Given the description of an element on the screen output the (x, y) to click on. 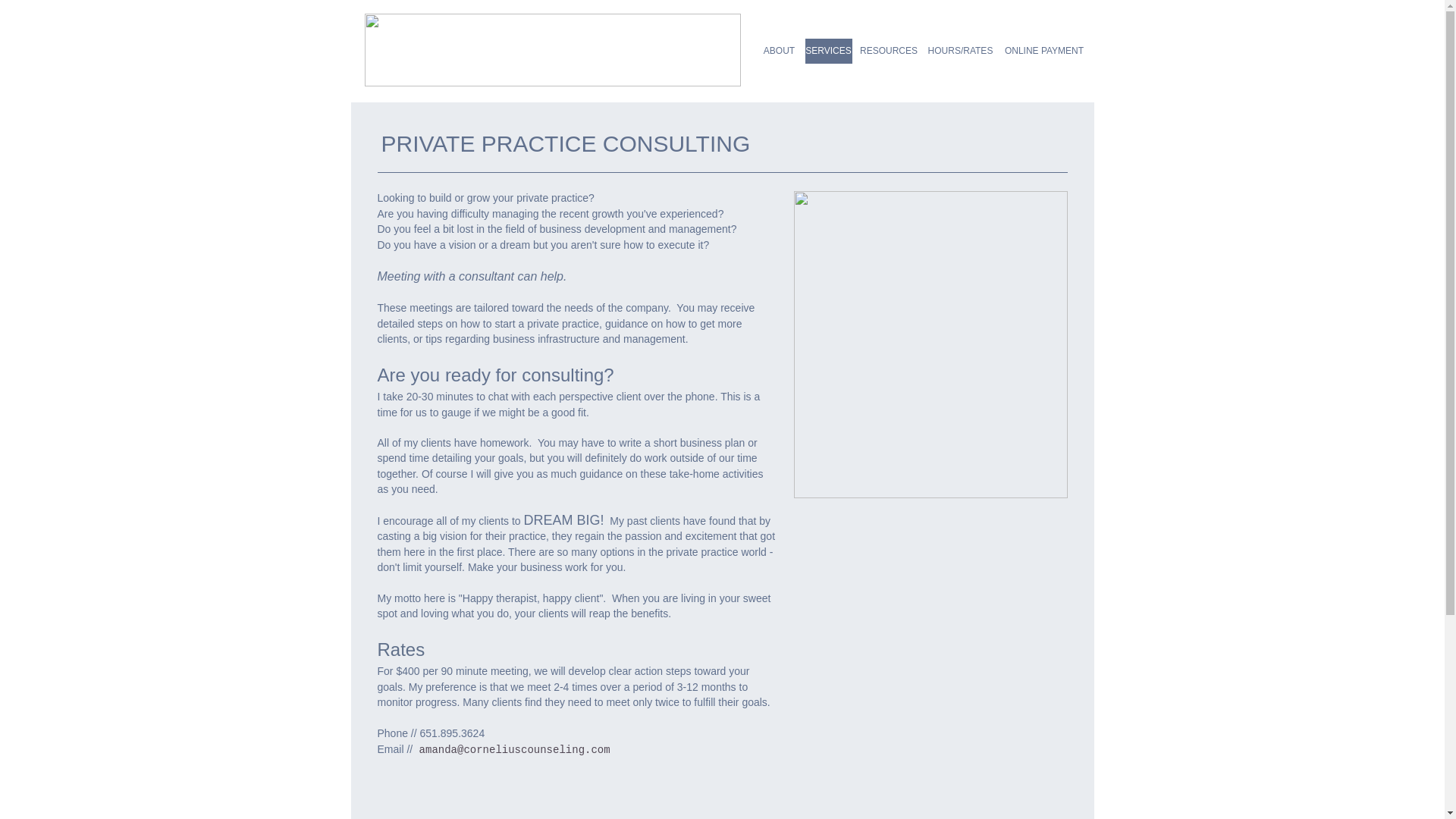
ONLINE PAYMENT (1043, 50)
ABOUT (779, 50)
RESOURCES (889, 50)
Budding Tree (930, 343)
SERVICES (828, 50)
CorneliusCounselingTaglineSmall.jpg (551, 49)
